Given the description of an element on the screen output the (x, y) to click on. 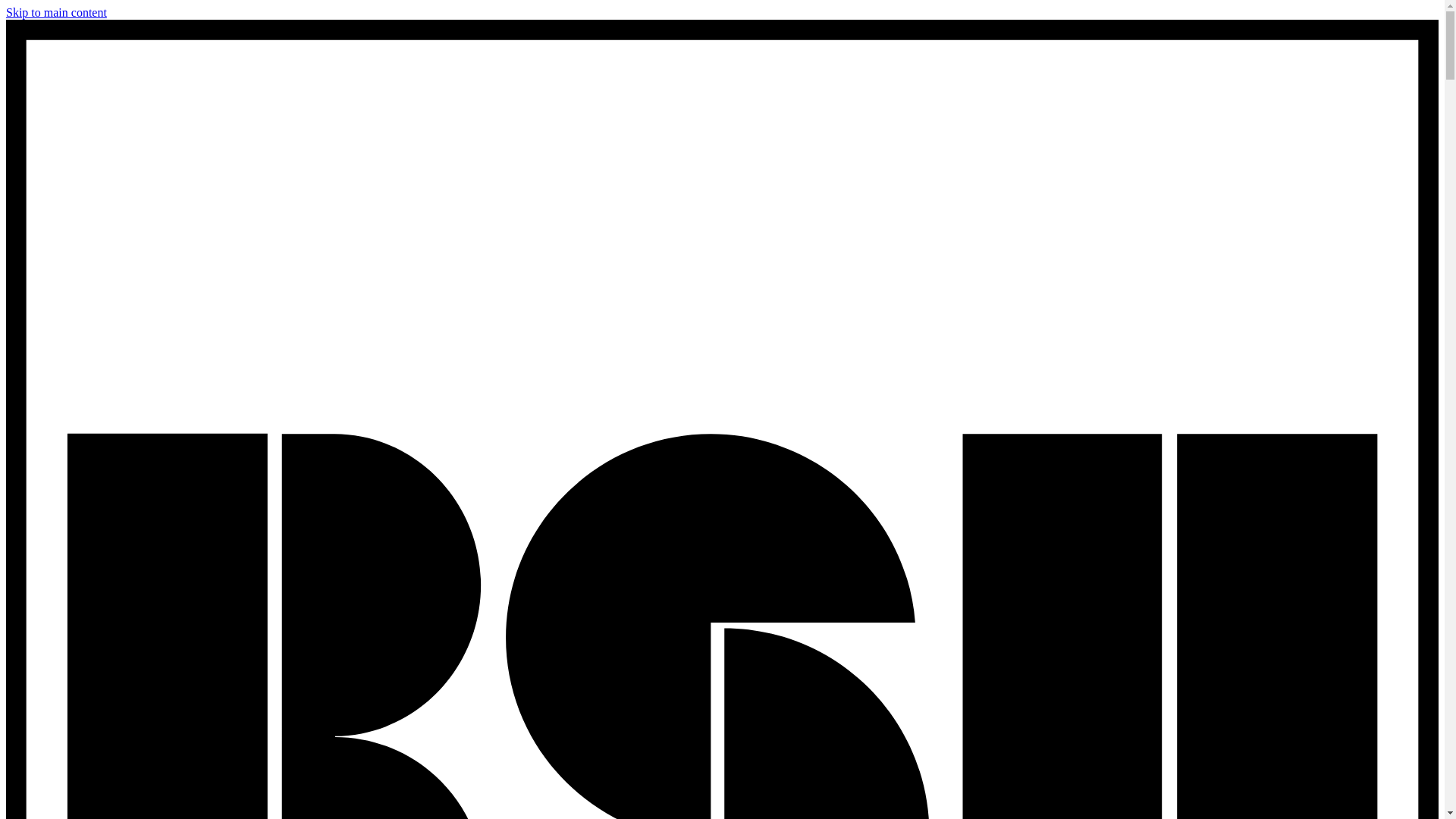
Skip to main content (55, 11)
